Given the description of an element on the screen output the (x, y) to click on. 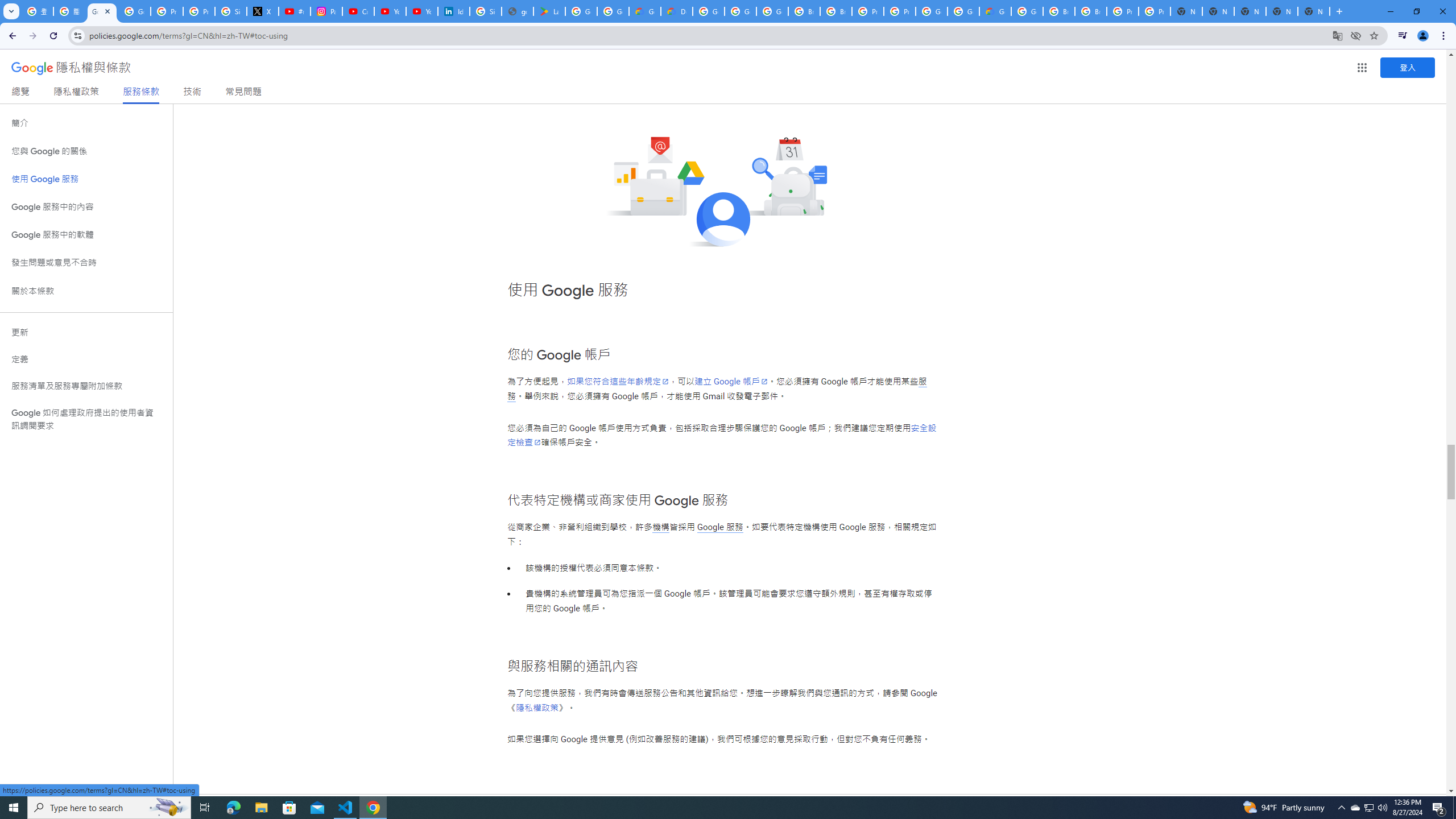
Last Shelter: Survival - Apps on Google Play (549, 11)
